Given the description of an element on the screen output the (x, y) to click on. 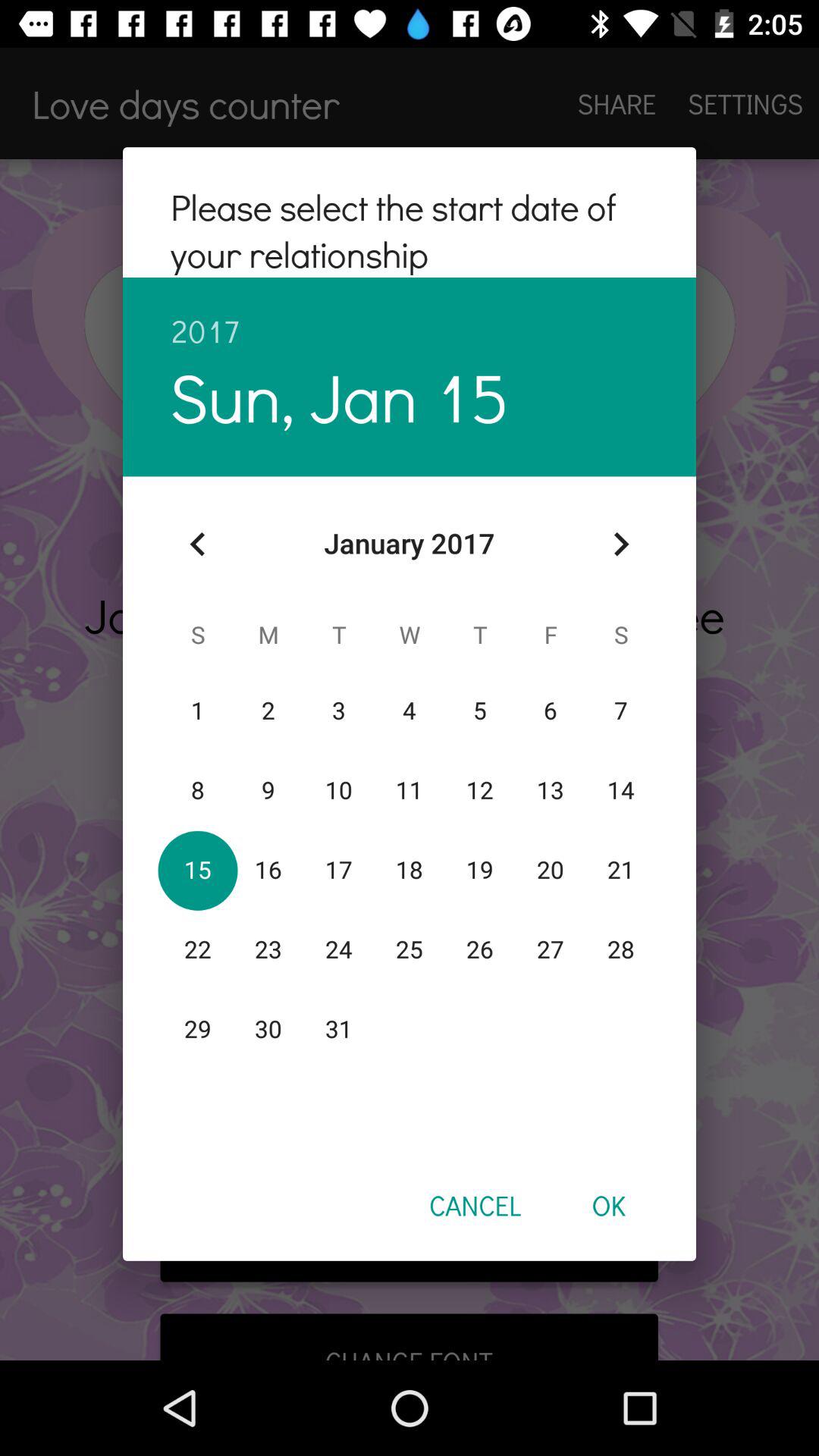
choose item below 2017 (339, 395)
